Given the description of an element on the screen output the (x, y) to click on. 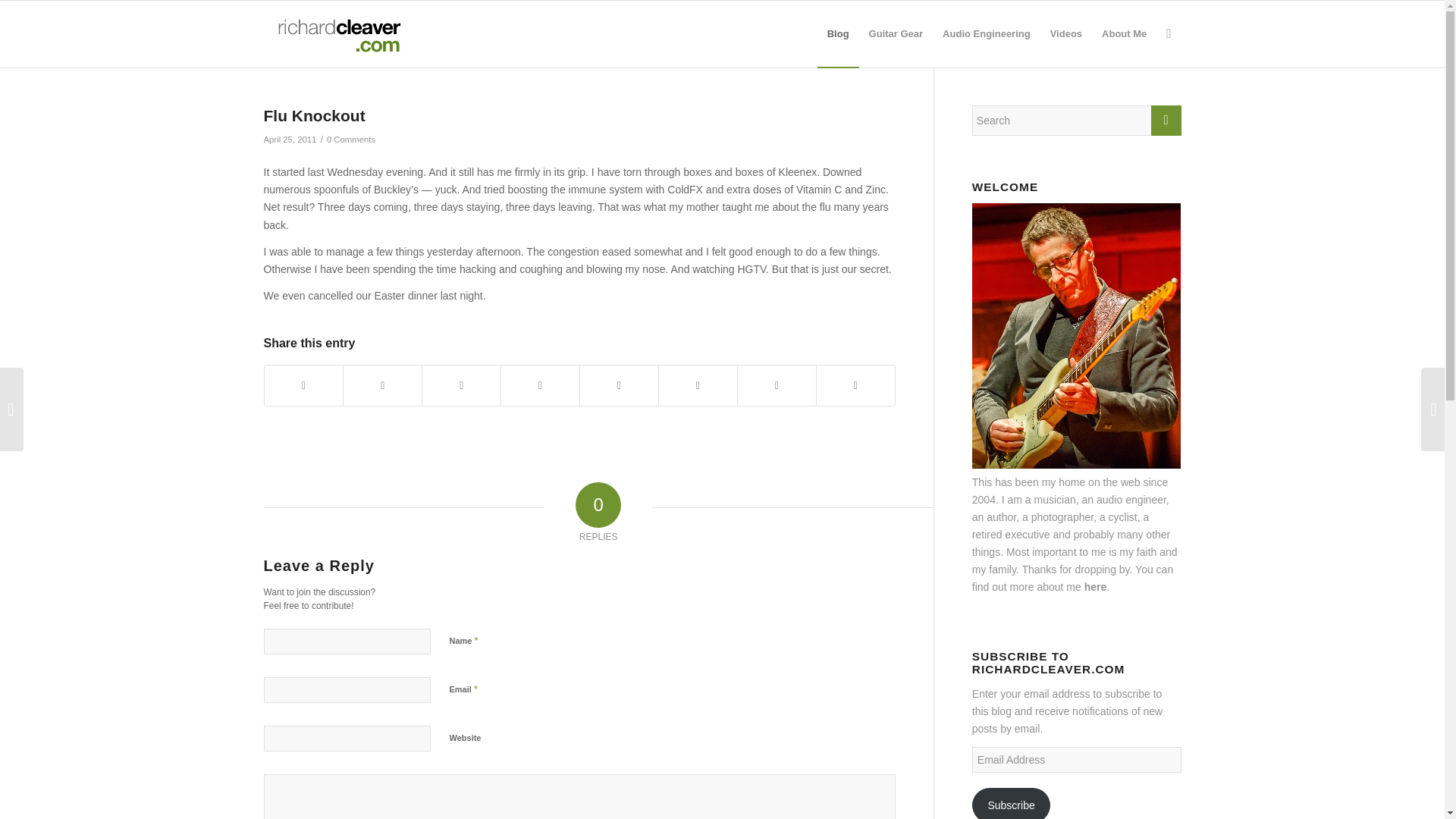
About Me (1124, 33)
Audio Engineering (987, 33)
rcdotcomlogo (336, 33)
Guitar Gear (896, 33)
here (1095, 586)
0 Comments (350, 139)
Subscribe (1011, 803)
